Given the description of an element on the screen output the (x, y) to click on. 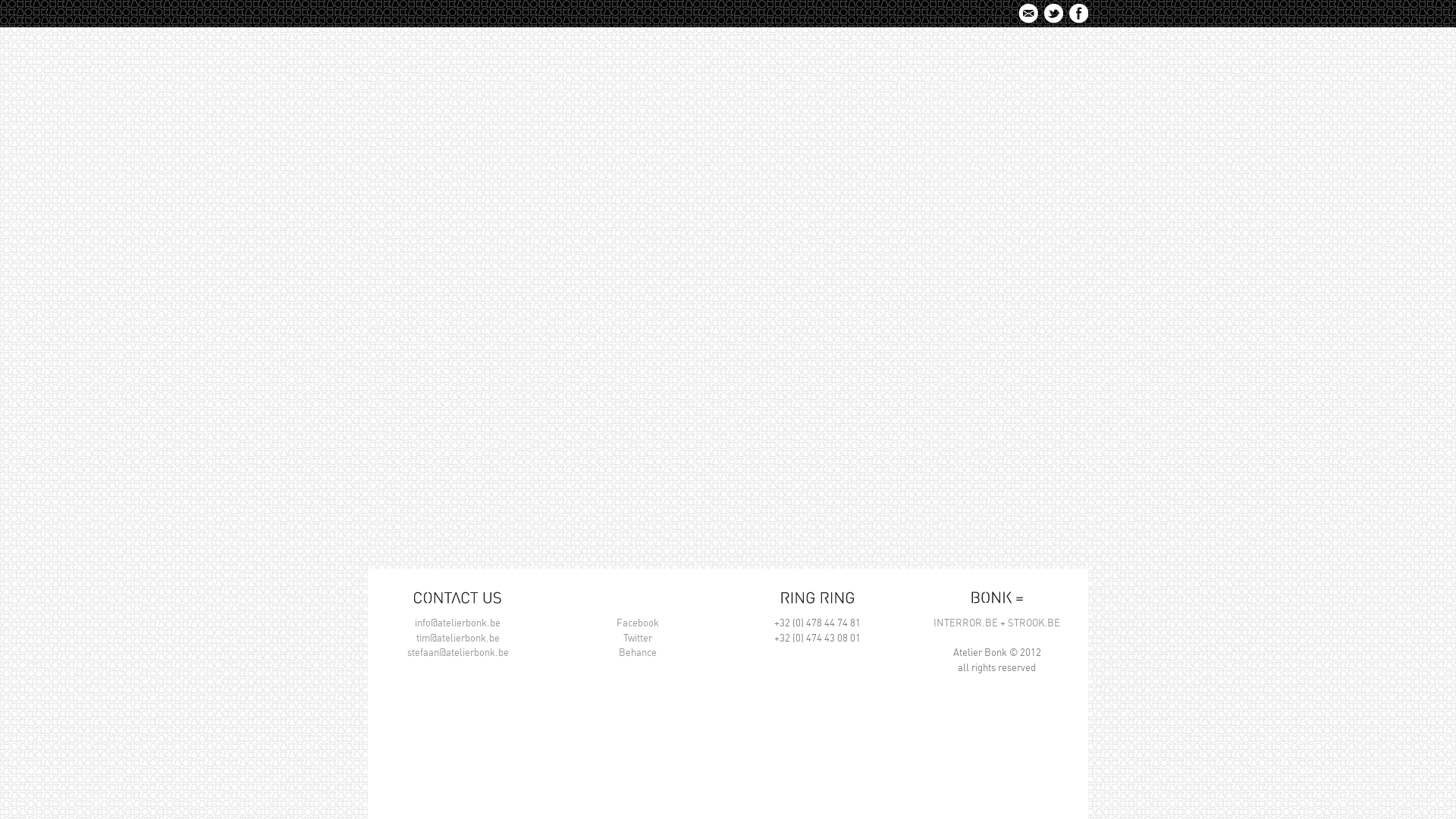
bonk bank Element type: hover (879, 86)
follow us on twitter Element type: hover (1053, 12)
STROOK.BE Element type: text (1033, 622)
stoemp Element type: hover (1031, 86)
Facebook Element type: text (636, 622)
INTERROR.BE Element type: text (965, 622)
tim@atelierbonk.be Element type: text (456, 636)
merged Element type: hover (955, 86)
Twitter Element type: text (637, 636)
mail Element type: hover (1029, 12)
like us on facebook Element type: hover (1077, 12)
stefaan@atelierbonk.be Element type: text (457, 652)
Behance Element type: text (637, 652)
info@atelierbonk.be Element type: text (458, 622)
